Given the description of an element on the screen output the (x, y) to click on. 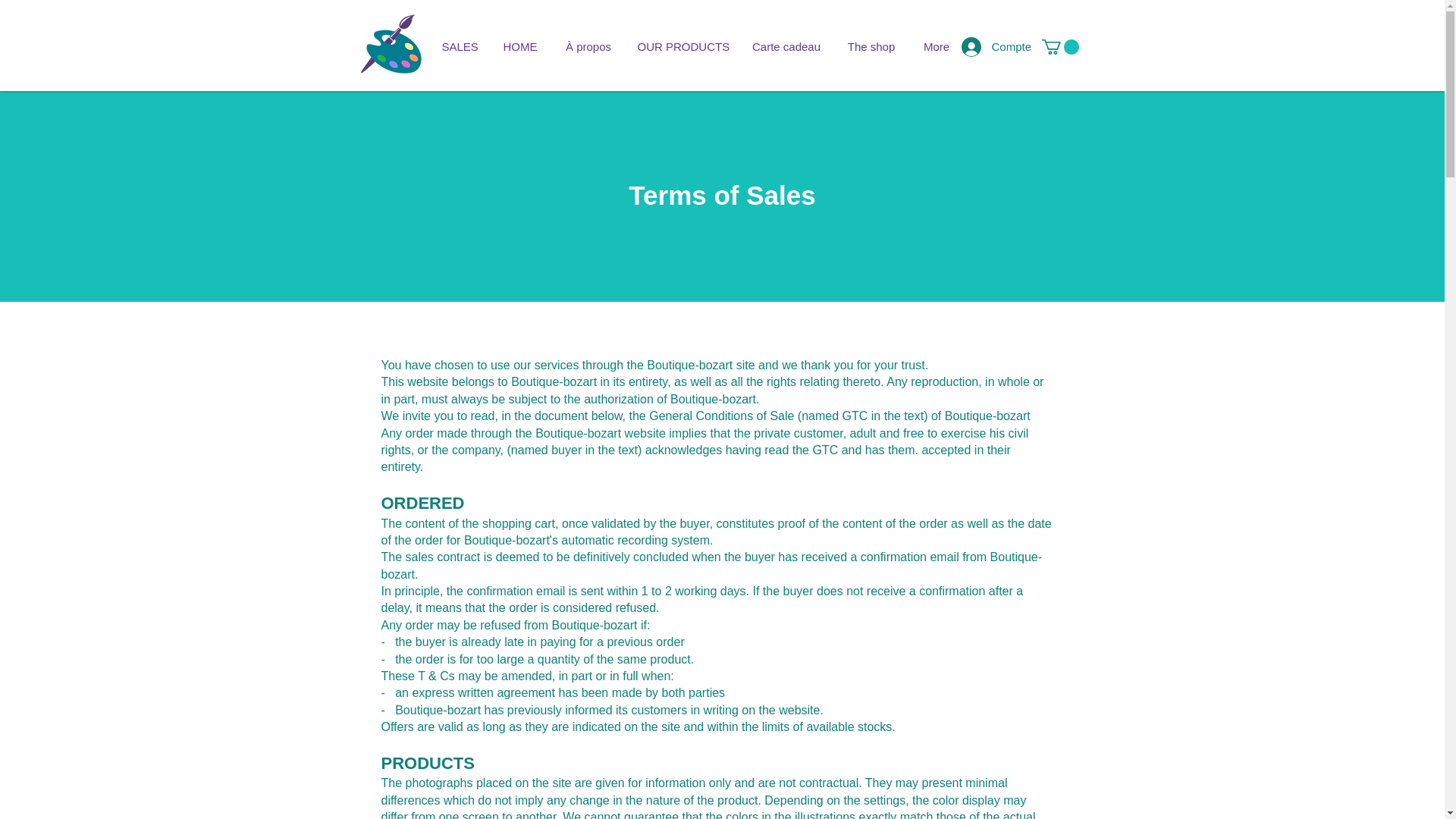
HOME (520, 46)
The shop (871, 46)
Carte cadeau (785, 46)
SALES (459, 46)
Logo boutique bozart.png (394, 45)
Compte (996, 45)
